Given the description of an element on the screen output the (x, y) to click on. 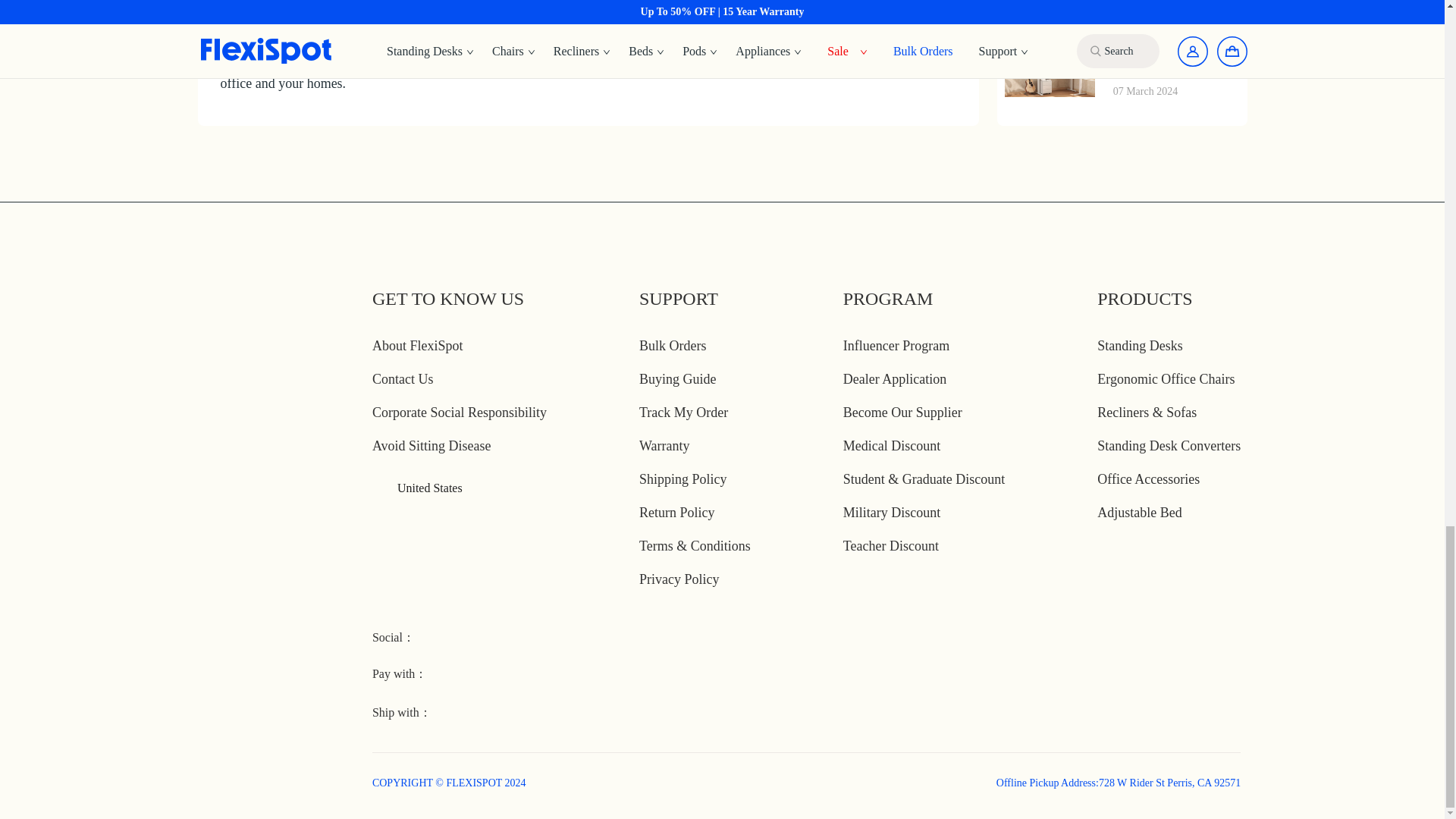
Contact Us (402, 378)
Buying Guide (677, 378)
Shipping Policy (682, 478)
Avoid Sitting Disease (432, 445)
Track My Order (683, 412)
Corporate Social Responsibility (459, 412)
Bulk Orders (672, 345)
About FlexiSpot (417, 345)
Warranty (664, 445)
Ribbed Low Back Armless Swivel Desk Chair 1391L11.  (585, 13)
